Given the description of an element on the screen output the (x, y) to click on. 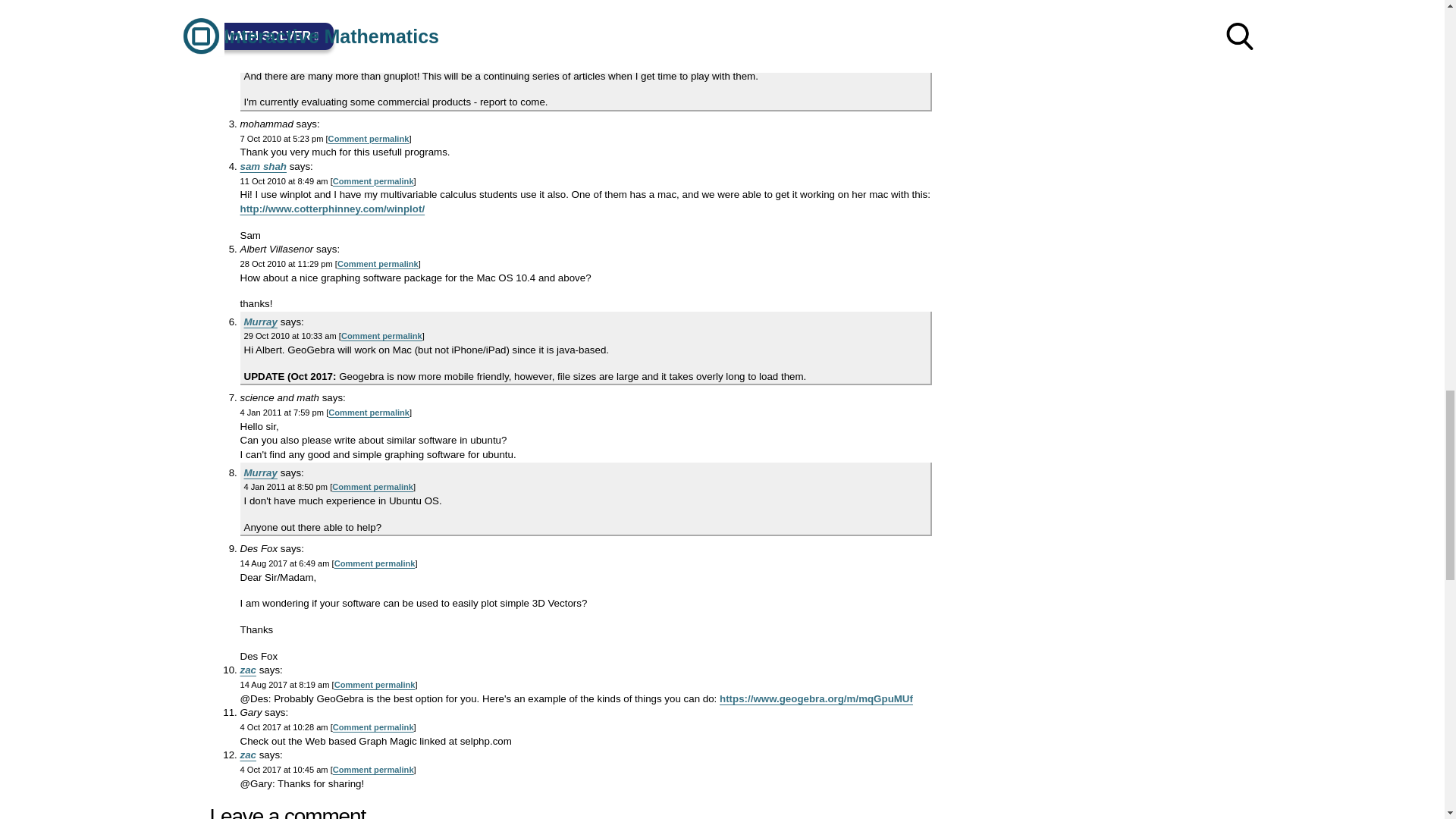
Link directly to this comment (372, 486)
Link directly to this comment (373, 15)
Link directly to this comment (381, 335)
Link directly to this comment (378, 263)
Link directly to this comment (372, 61)
gasstationwithoutpumps (299, 3)
Link directly to this comment (369, 138)
Link directly to this comment (369, 411)
Link directly to this comment (373, 180)
